Given the description of an element on the screen output the (x, y) to click on. 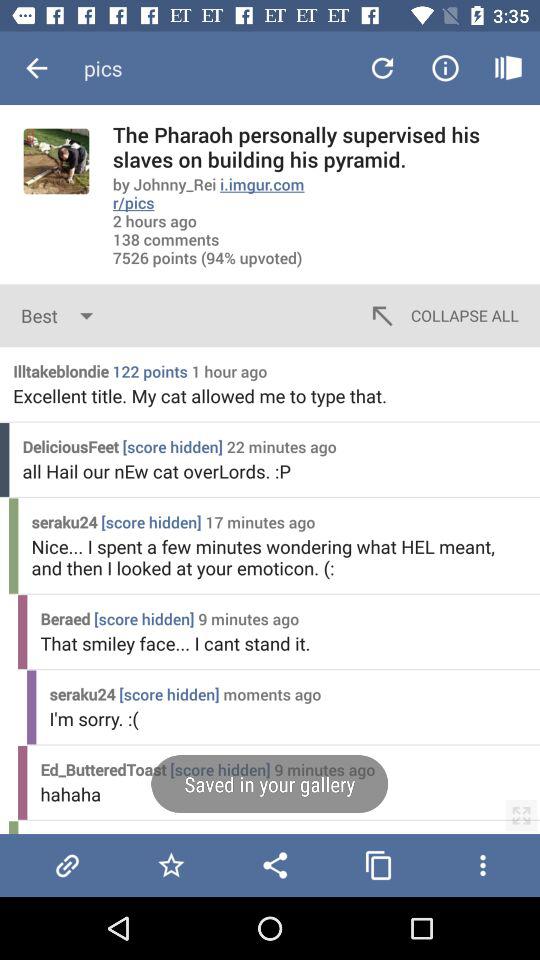
press icon next to the hahaha icon (521, 815)
